Given the description of an element on the screen output the (x, y) to click on. 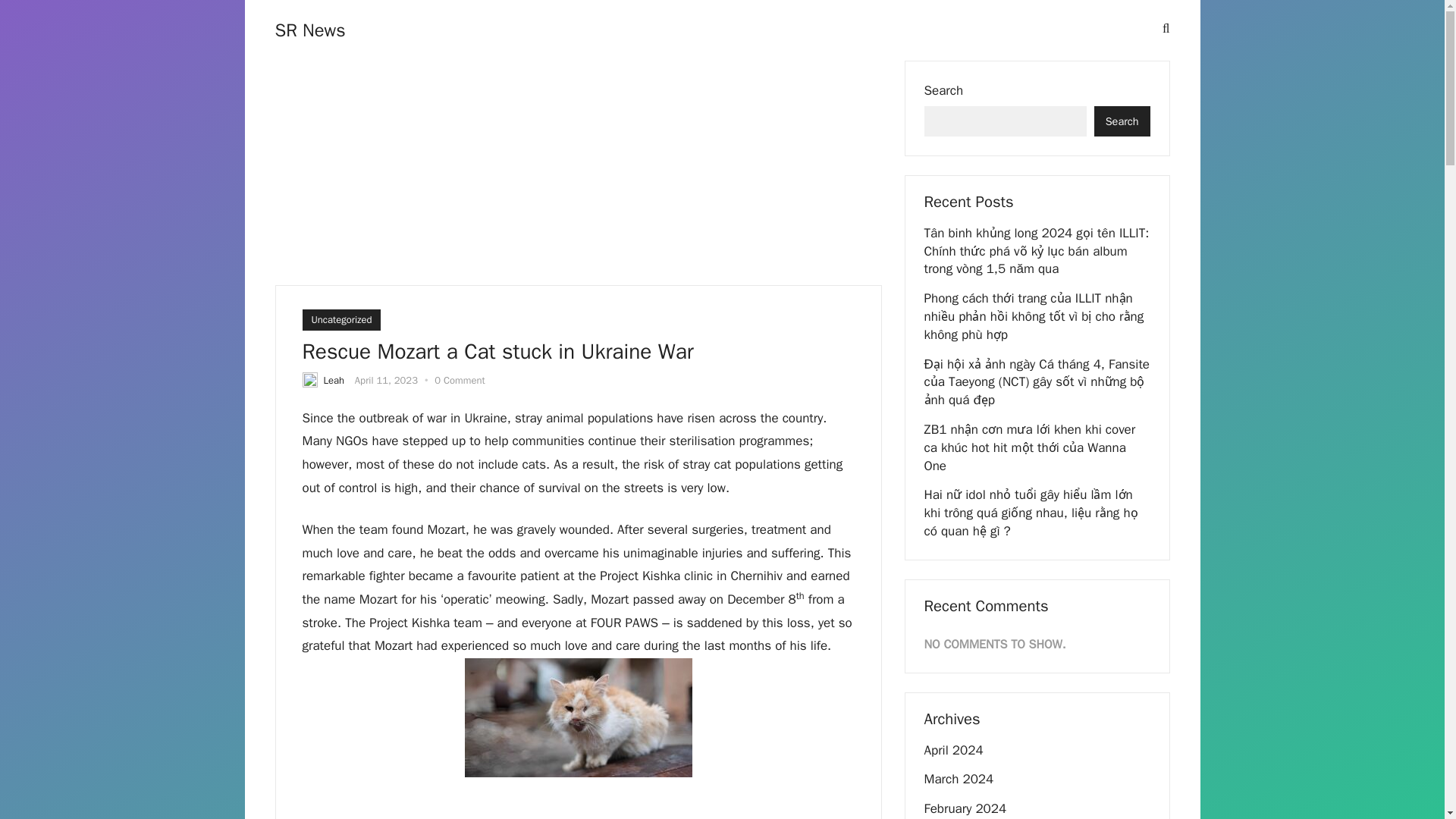
Posts by Leah (333, 379)
Uncategorized (340, 319)
Advertisement (577, 172)
Advertisement (577, 807)
SR News (310, 30)
Leah (333, 379)
0 Comment (458, 379)
